Given the description of an element on the screen output the (x, y) to click on. 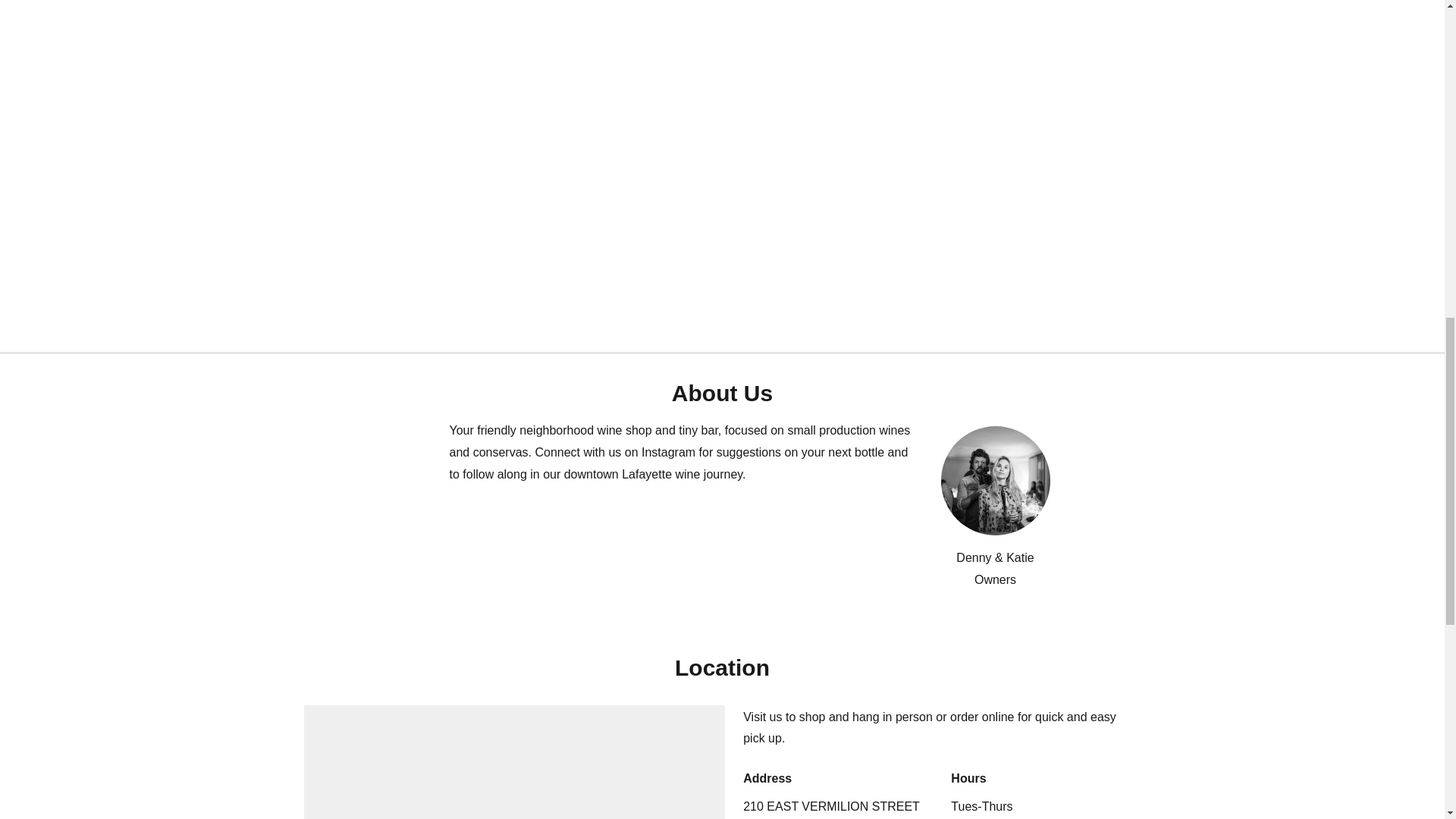
Location on map (513, 762)
